Given the description of an element on the screen output the (x, y) to click on. 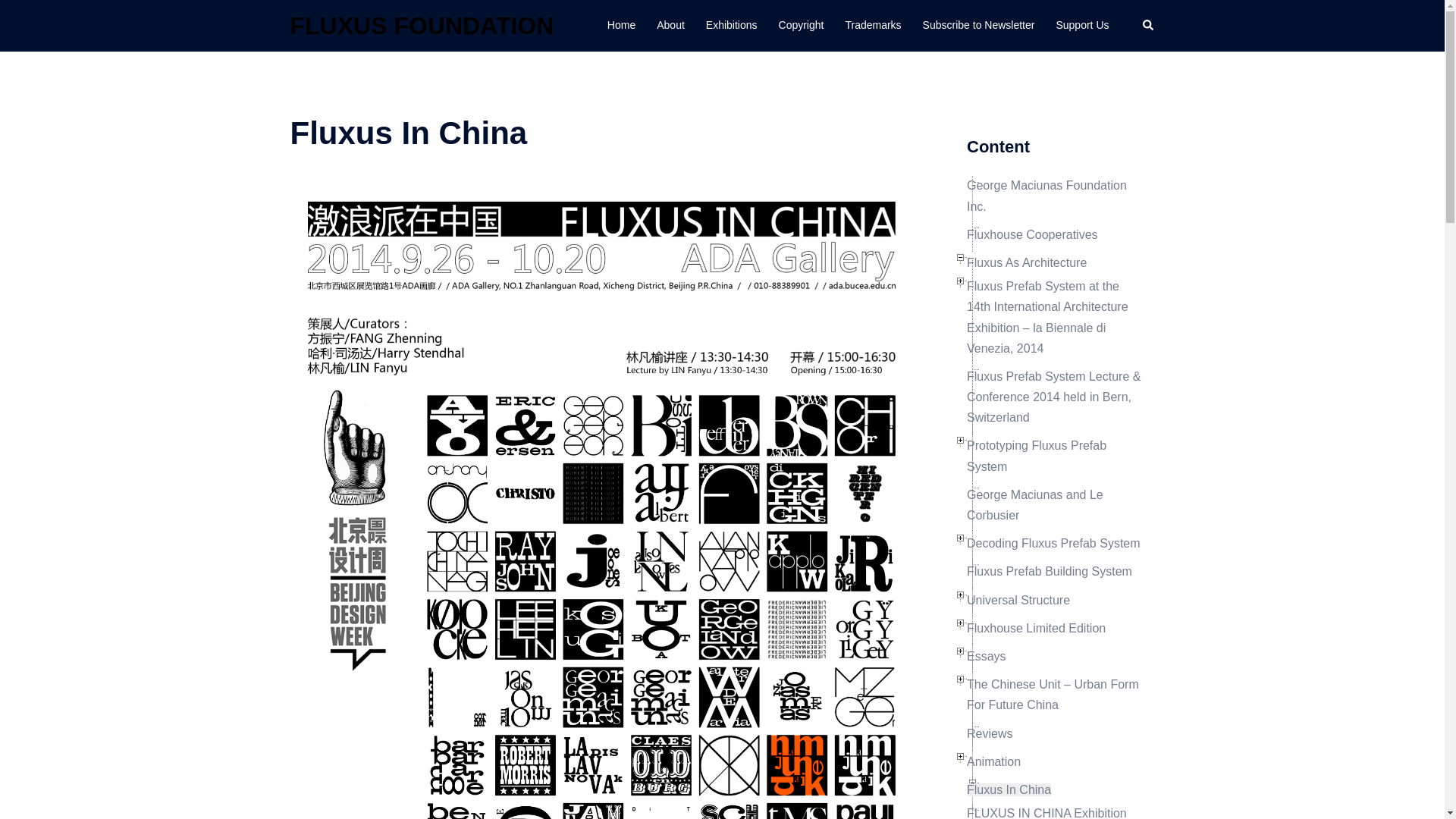
Exhibitions (731, 25)
Search (1147, 25)
Home (620, 25)
FLUXUS FOUNDATION (421, 25)
Support Us (1081, 25)
Copyright (801, 25)
Subscribe to Newsletter (979, 25)
Trademarks (872, 25)
About (670, 25)
